Given the description of an element on the screen output the (x, y) to click on. 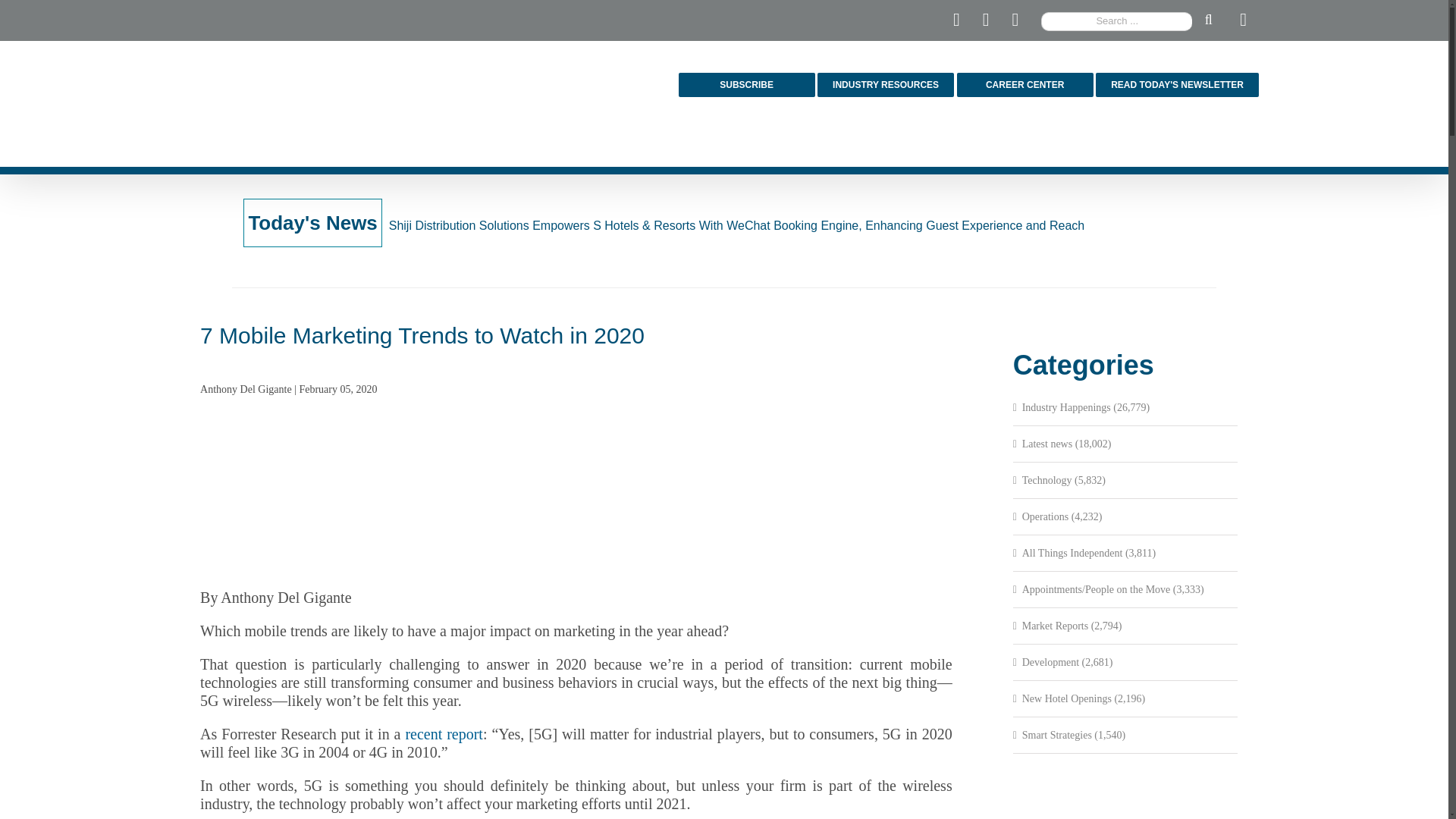
7 Mobile Marketing Trends to Watch in 2020 (576, 494)
